Given the description of an element on the screen output the (x, y) to click on. 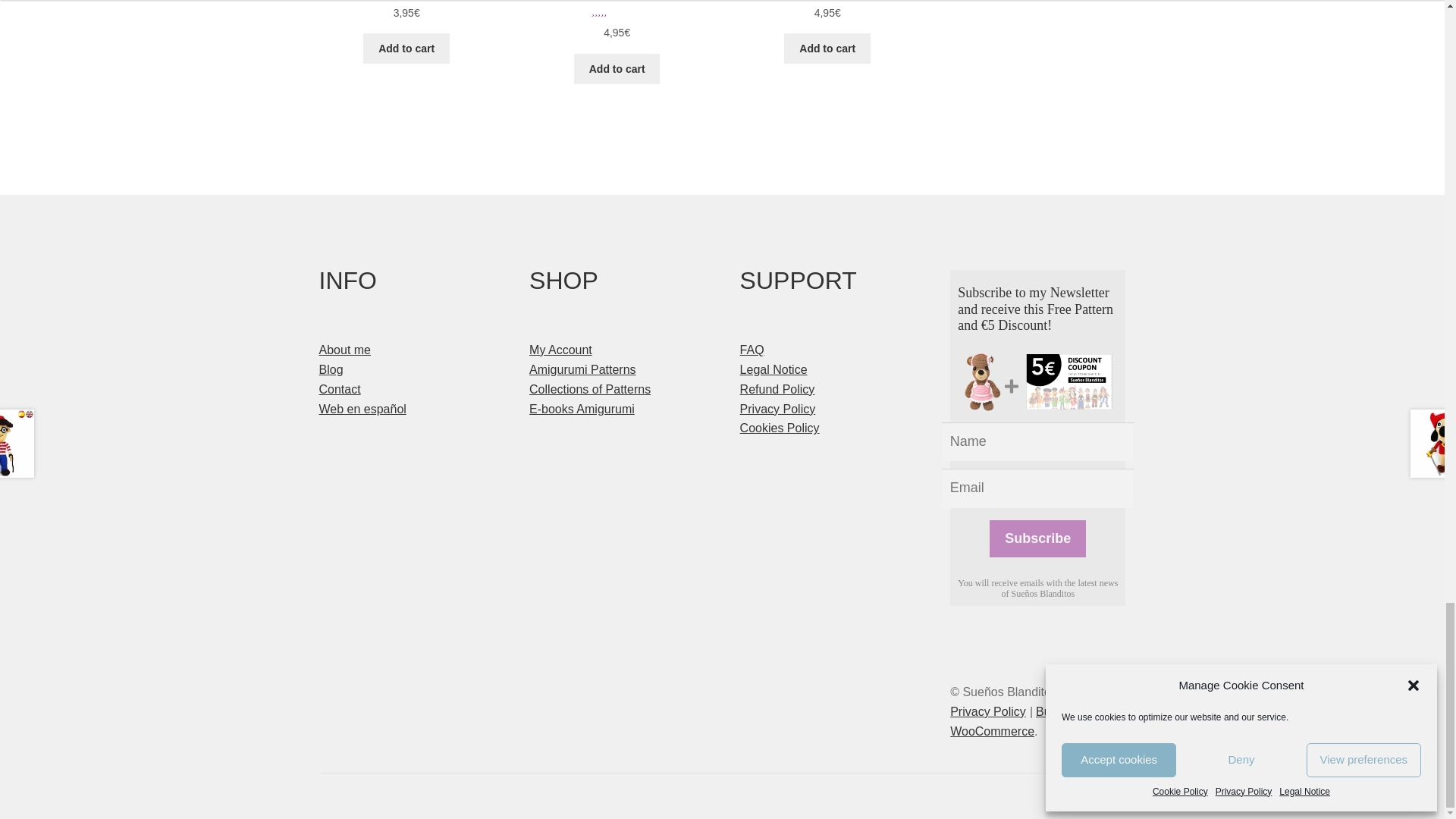
WooCommerce - The Best eCommerce Platform for WordPress (1017, 721)
